Given the description of an element on the screen output the (x, y) to click on. 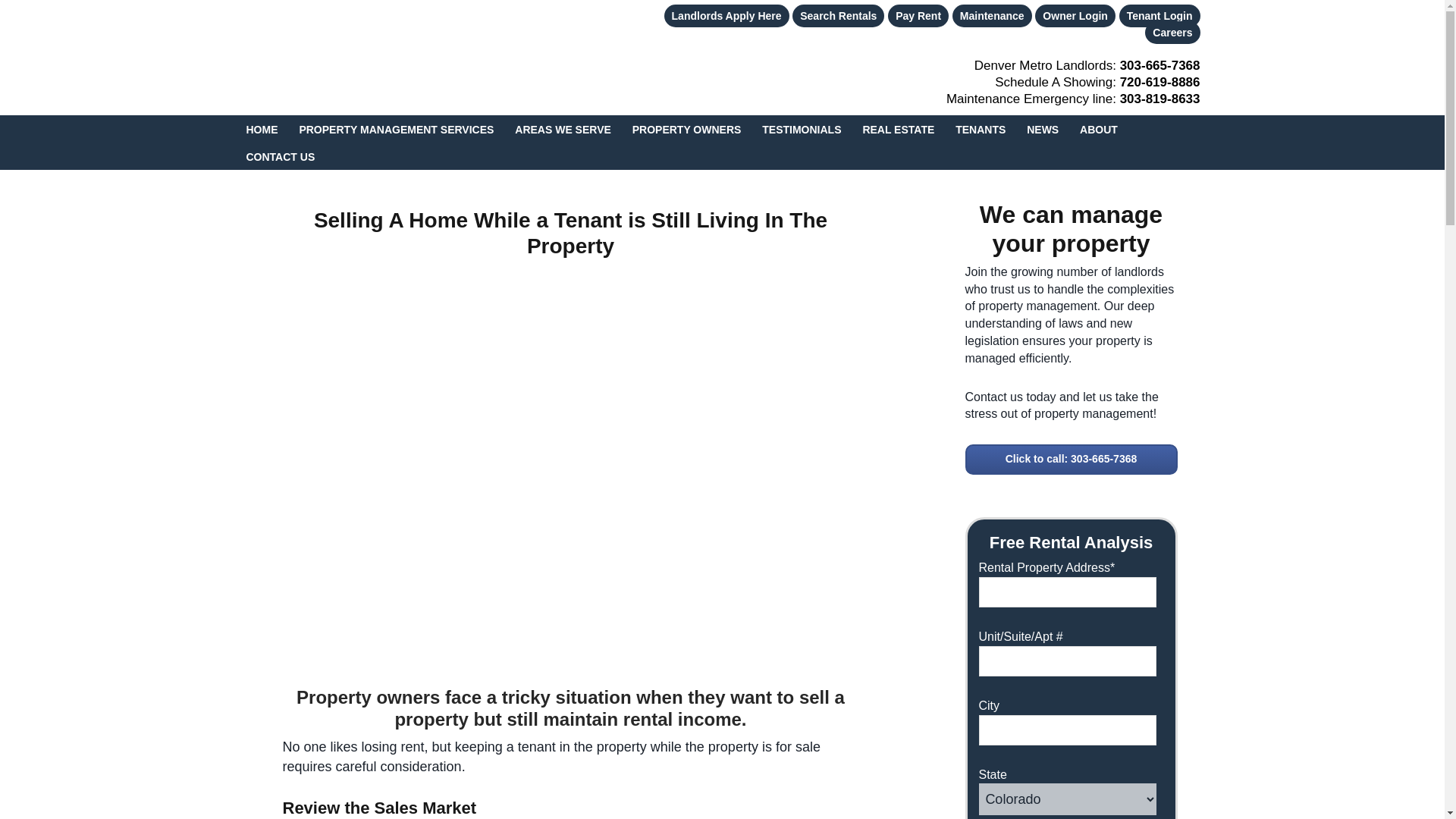
Landlords Apply Here (726, 15)
Owner Login (1075, 15)
PROPERTY OWNERS (687, 128)
Tenant Login (1159, 15)
Pay Rent (917, 15)
HOME (260, 128)
PROPERTY MANAGEMENT SERVICES (395, 128)
Maintenance (992, 15)
AREAS WE SERVE (562, 128)
Colorado Realty and Property Management, Inc. (349, 56)
